Given the description of an element on the screen output the (x, y) to click on. 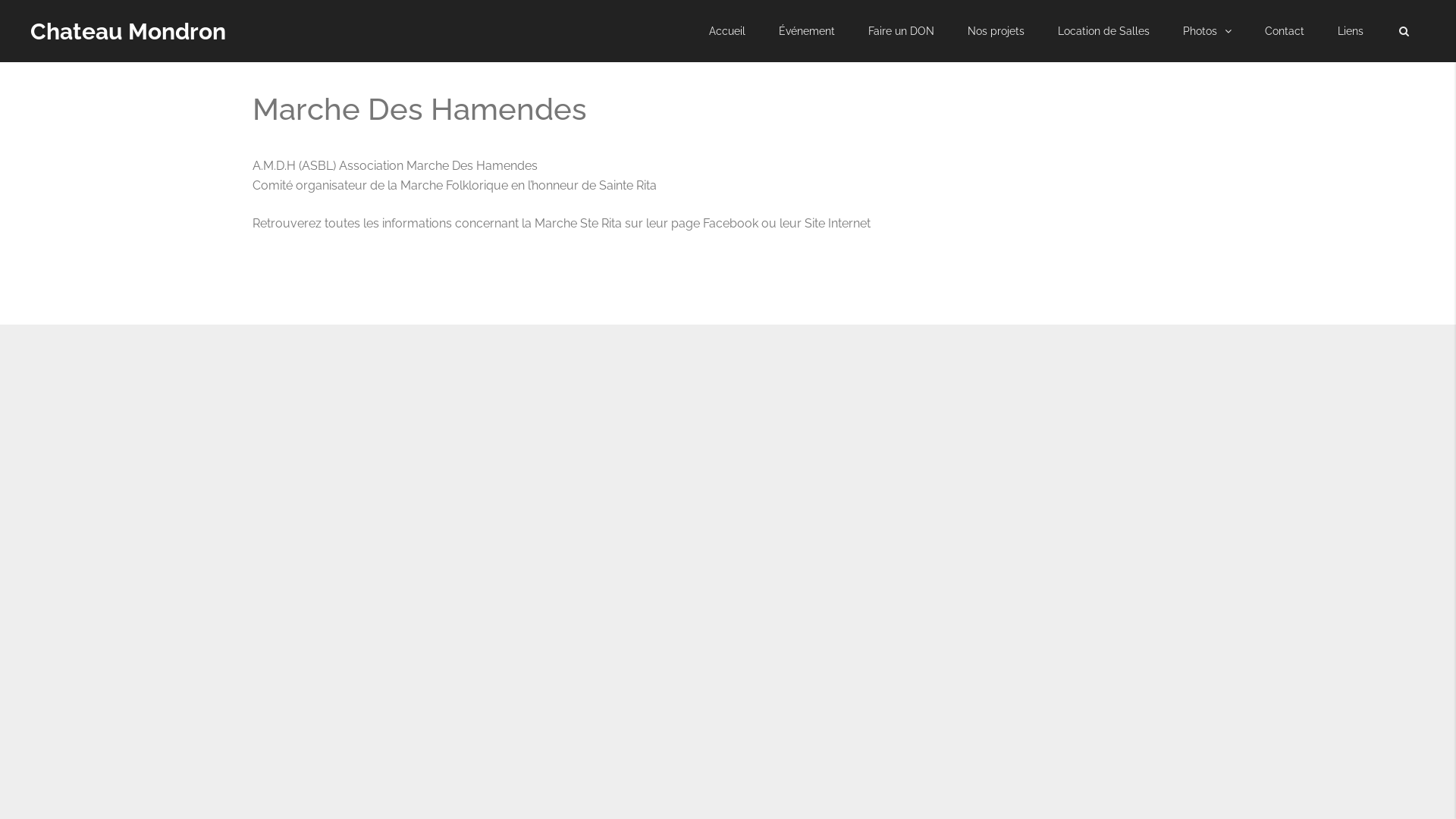
Accueil Element type: text (726, 31)
Faire un DON Element type: text (901, 31)
Photos Element type: text (1206, 31)
Nos projets Element type: text (995, 31)
Contact Element type: text (1284, 31)
Location de Salles Element type: text (1103, 31)
Search Element type: hover (1403, 31)
Chateau Mondron Element type: text (127, 31)
Liens Element type: text (1350, 31)
